Given the description of an element on the screen output the (x, y) to click on. 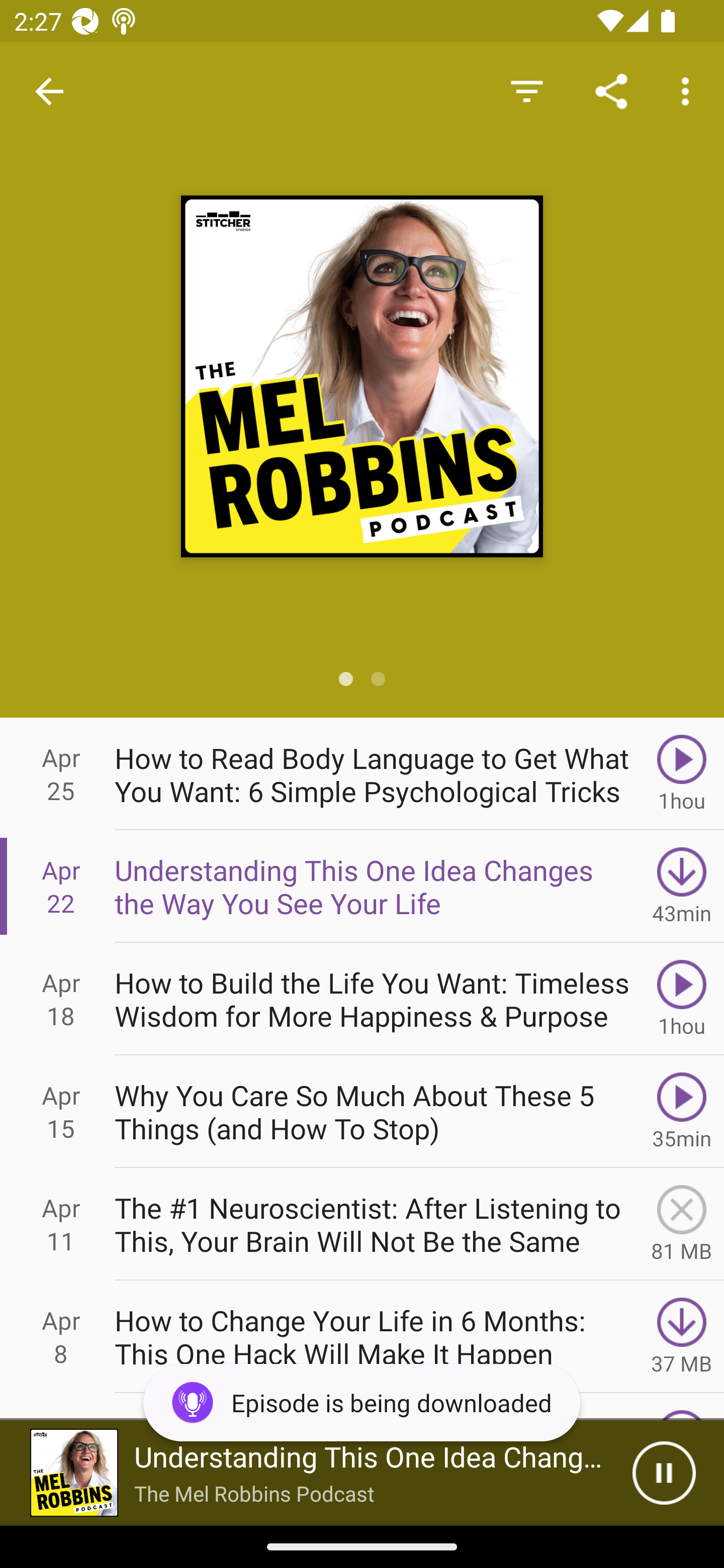
Navigate up (49, 91)
Hide Episodes (526, 90)
Share Link (611, 90)
More options (688, 90)
Play 1hou (681, 773)
Download 43min (681, 885)
Play 1hou (681, 998)
Play 35min (681, 1111)
Cancel
Download 81 MB (681, 1224)
Download 37 MB (681, 1336)
Pause (663, 1472)
